Given the description of an element on the screen output the (x, y) to click on. 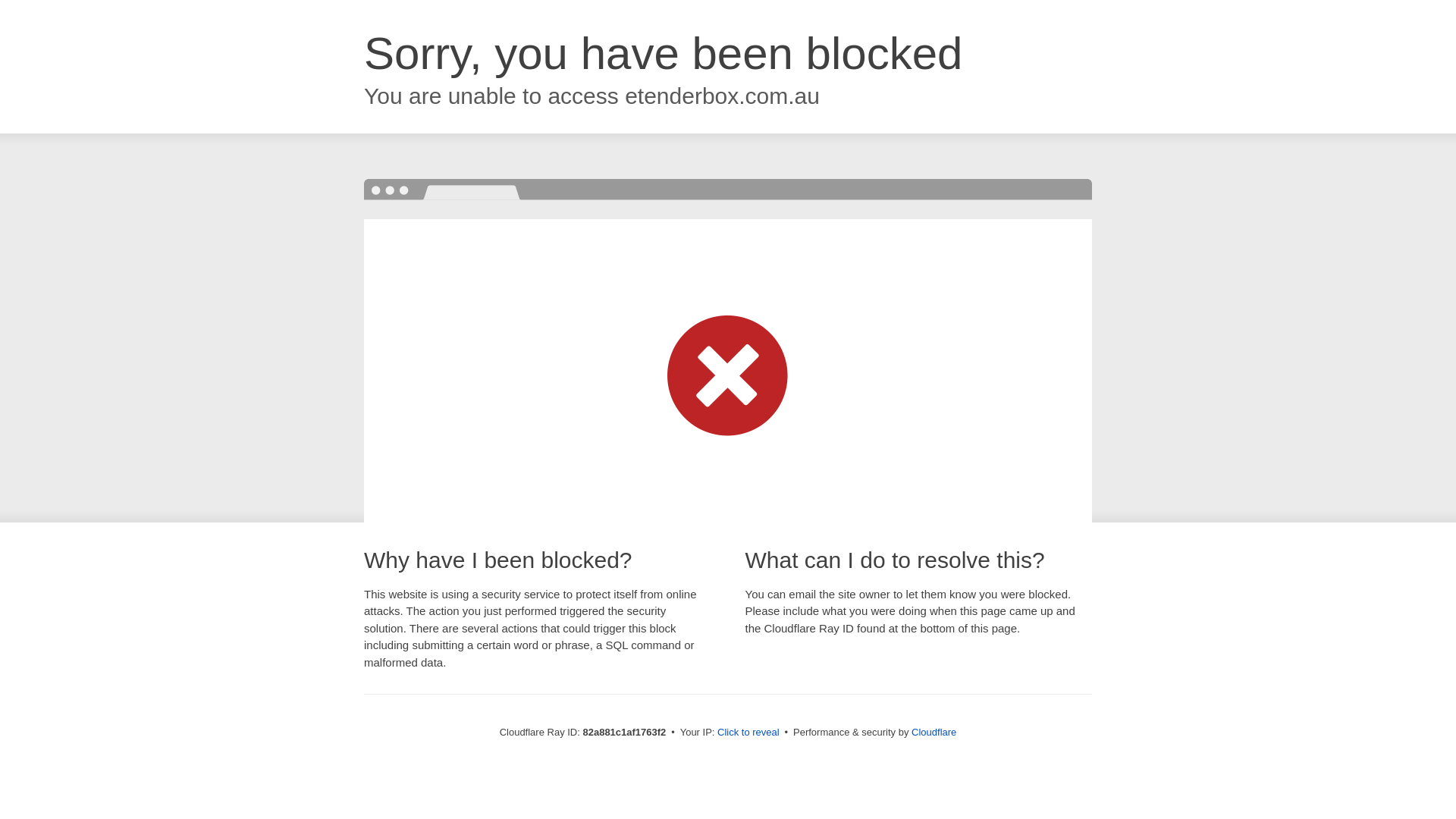
Cloudflare Element type: text (933, 731)
Click to reveal Element type: text (748, 732)
